Given the description of an element on the screen output the (x, y) to click on. 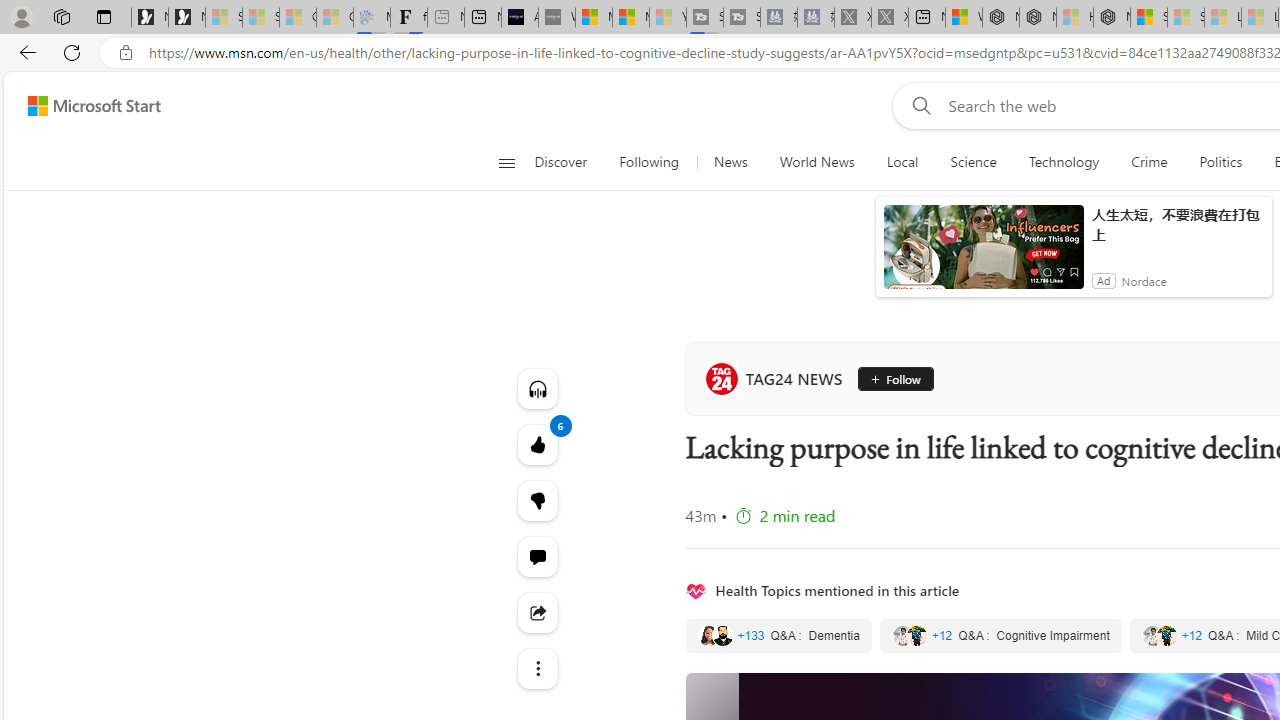
Web search (917, 105)
Listen to this article (537, 388)
World News (817, 162)
Politics (1220, 162)
Class: button-glyph (505, 162)
Crime (1149, 162)
Skip to footer (82, 105)
What's the best AI voice generator? - voice.ai - Sleeping (556, 17)
